Given the description of an element on the screen output the (x, y) to click on. 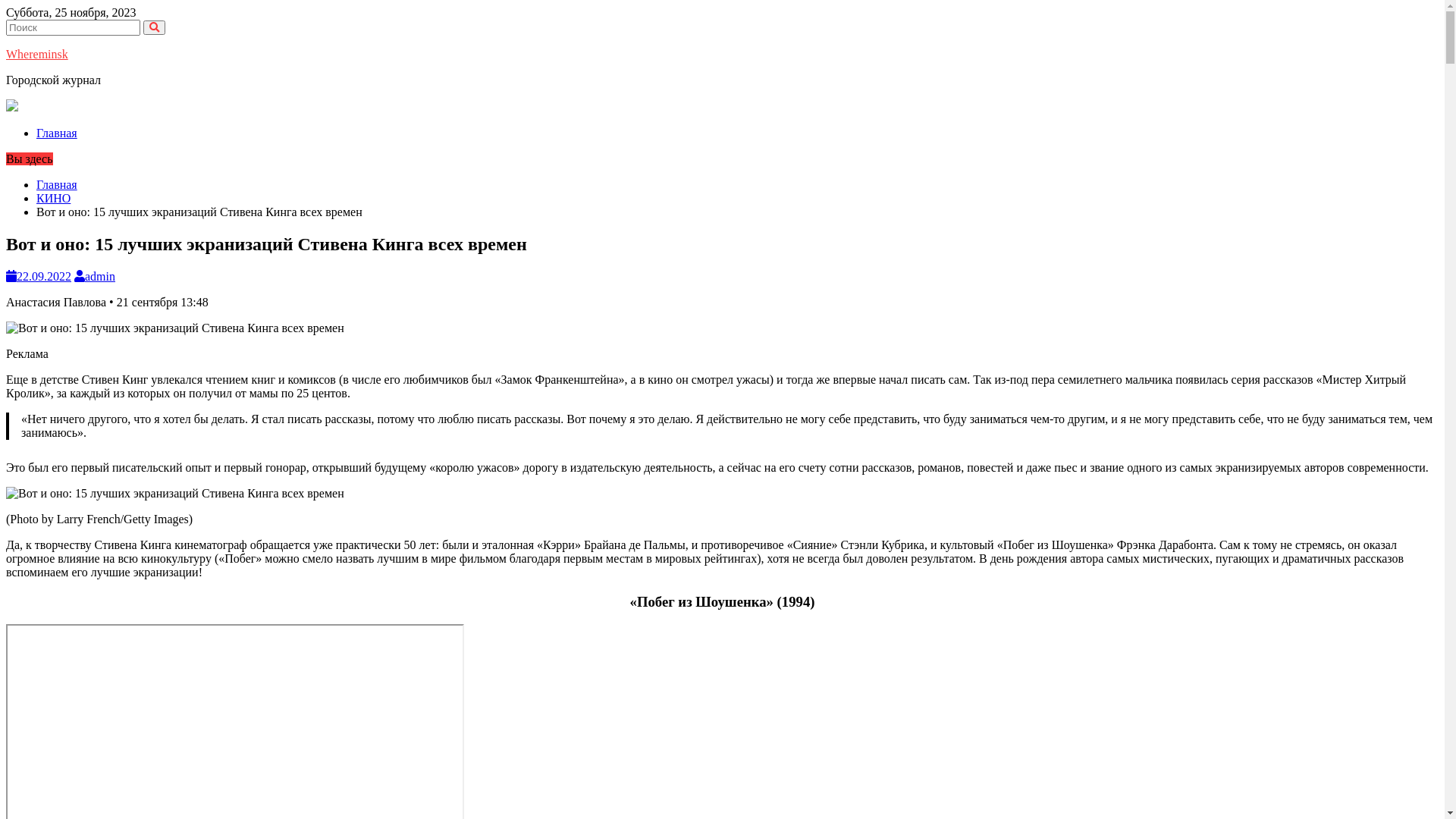
admin Element type: text (94, 275)
Whereminsk Element type: text (37, 53)
22.09.2022 Element type: text (38, 275)
